Given the description of an element on the screen output the (x, y) to click on. 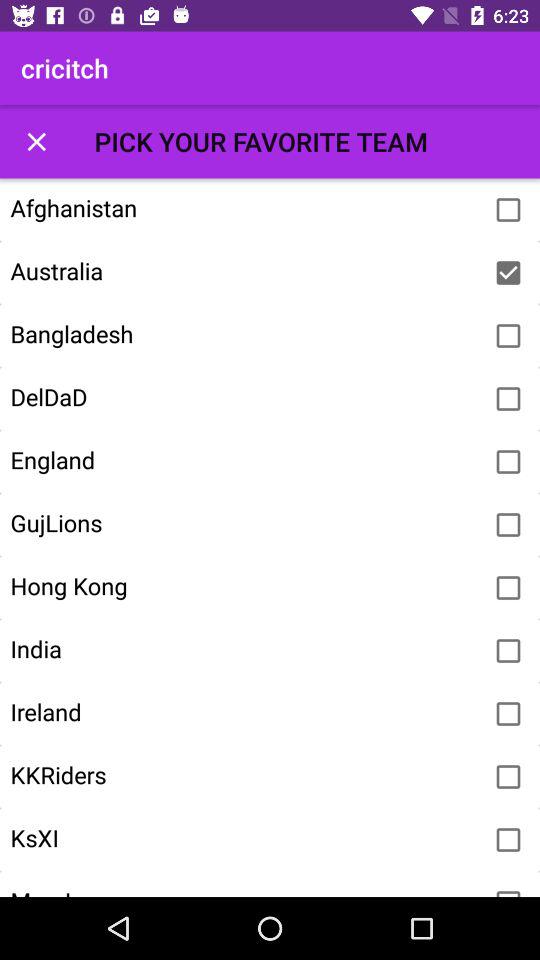
checkbox for favorite team (508, 889)
